Given the description of an element on the screen output the (x, y) to click on. 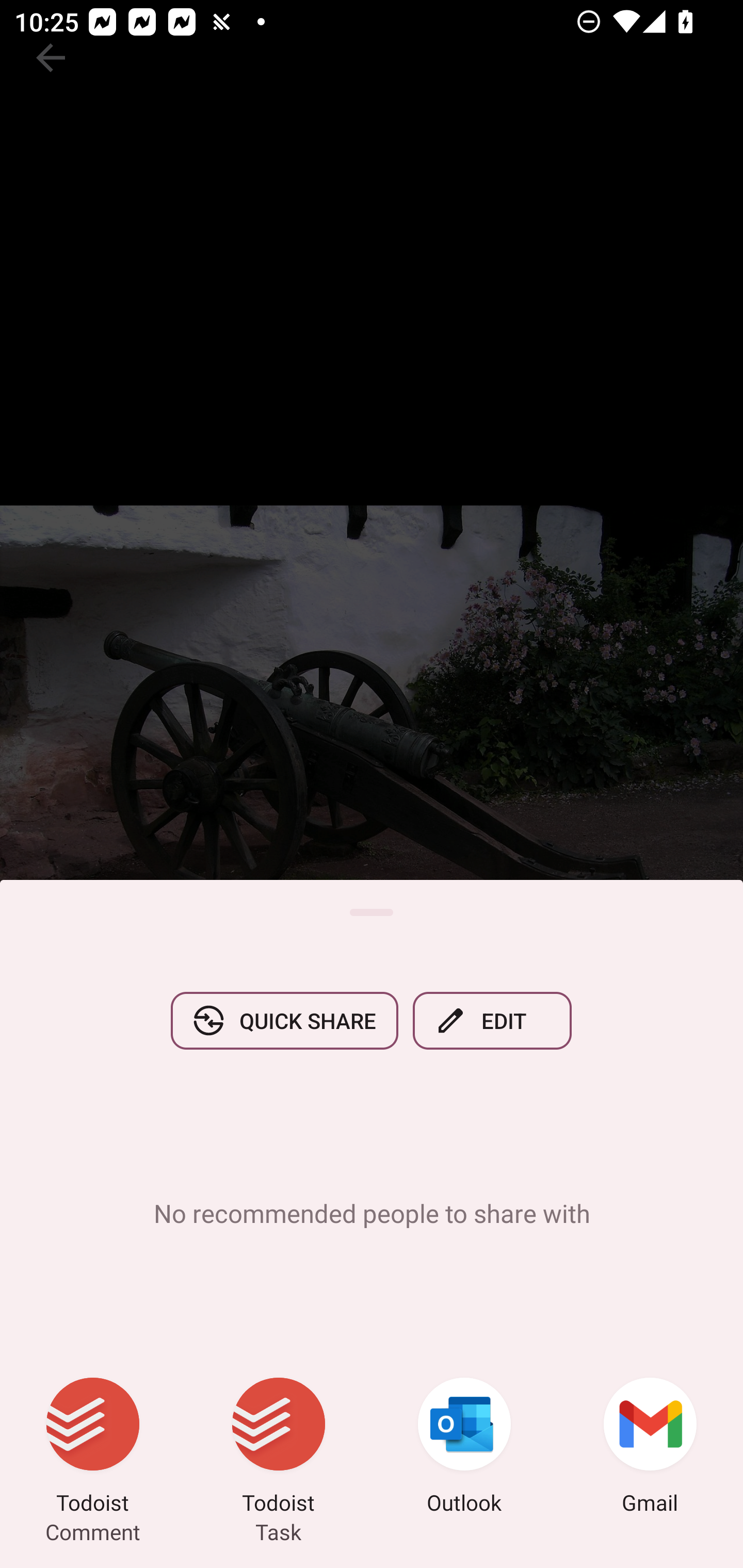
QUICK SHARE (284, 1020)
EDIT (492, 1020)
Todoist Comment (92, 1448)
Todoist Task (278, 1448)
Outlook (464, 1448)
Gmail (650, 1448)
